Given the description of an element on the screen output the (x, y) to click on. 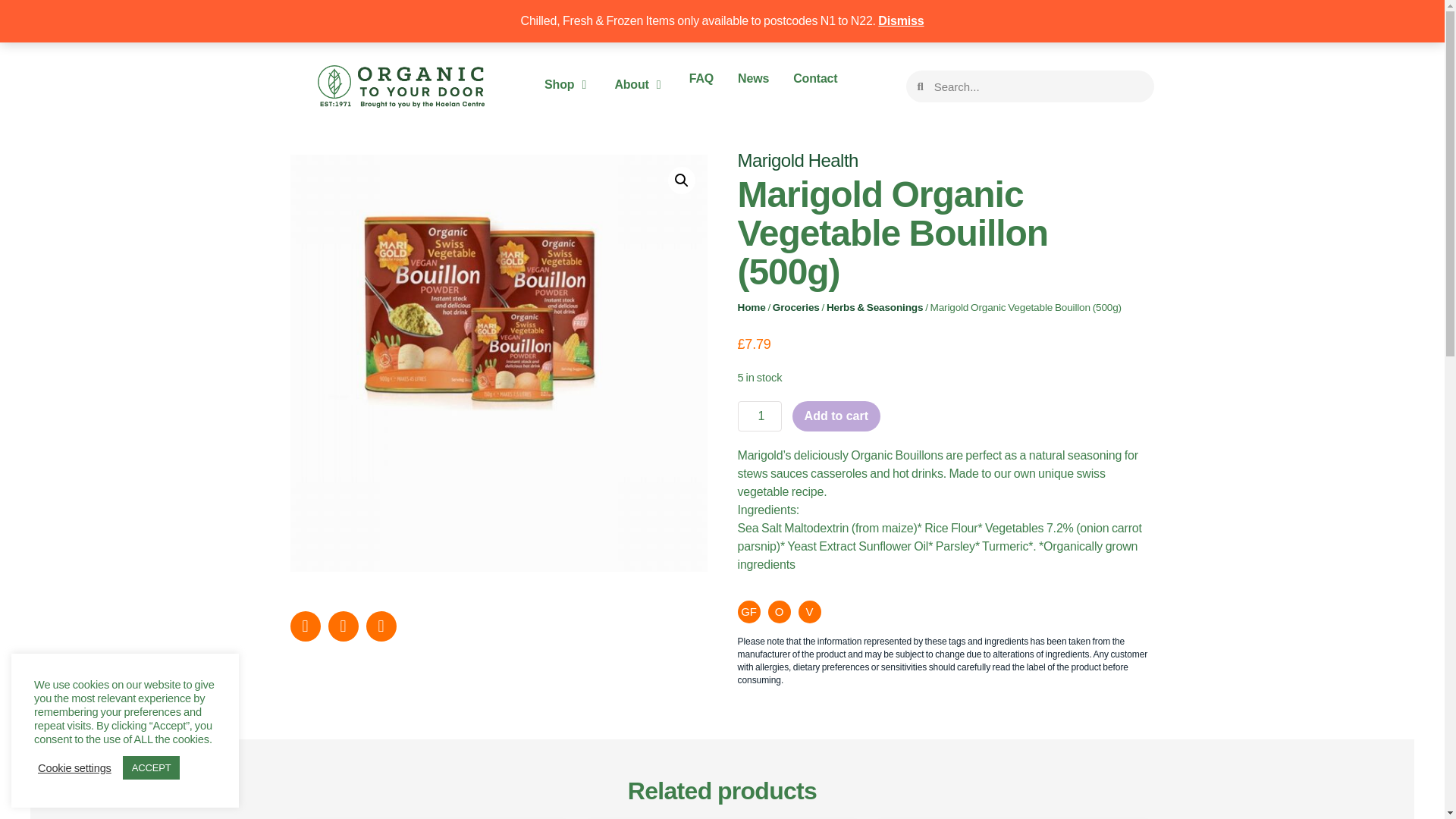
About (630, 85)
Contact (815, 78)
Basket (1114, 20)
1 (758, 416)
News (753, 78)
Shop (558, 85)
FAQ (700, 78)
Login (997, 20)
020 8340 4258 (859, 20)
